Given the description of an element on the screen output the (x, y) to click on. 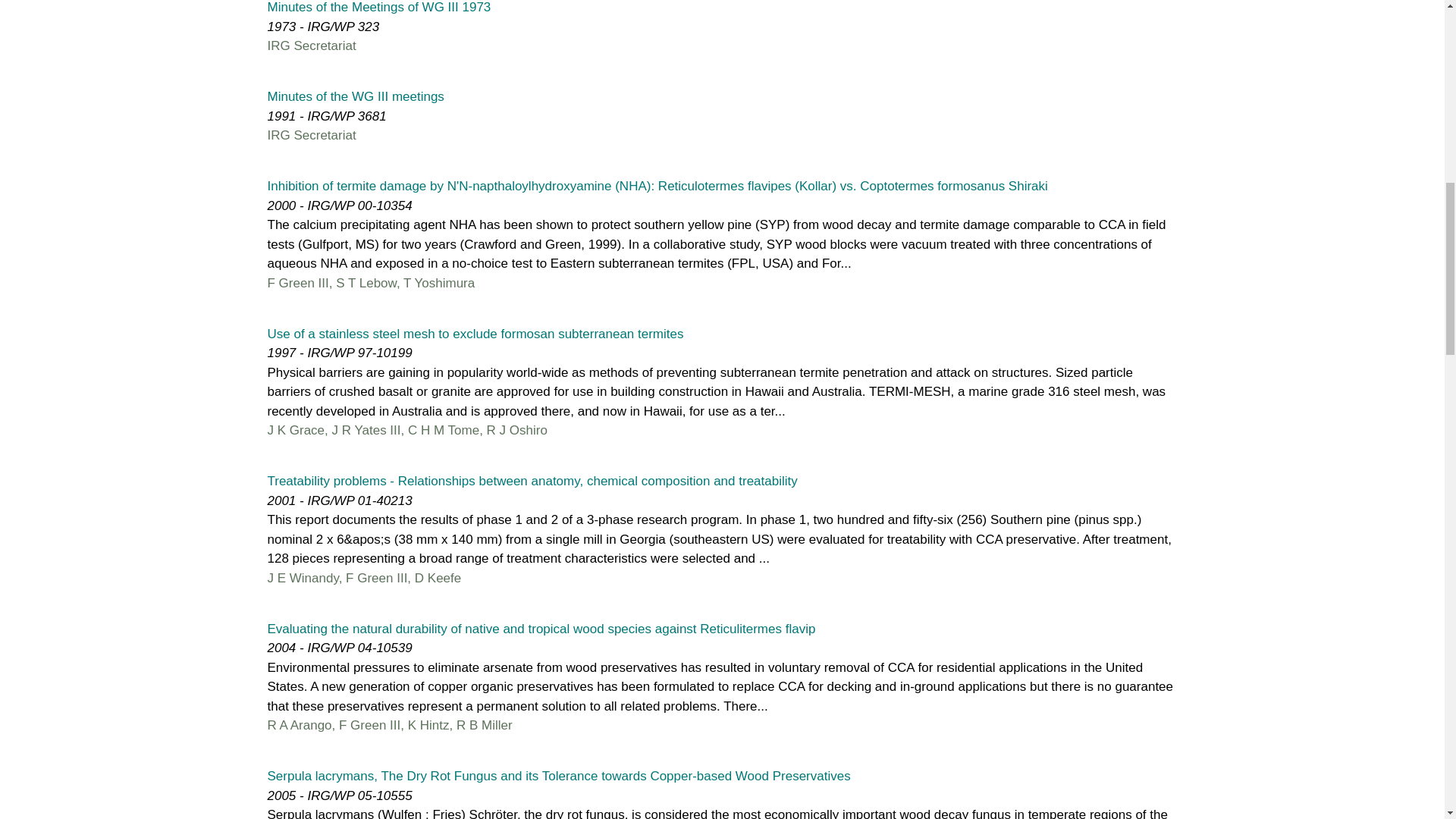
Click for more information about document. (474, 332)
Minutes of the WG III meetings (355, 96)
Click for more information about document. (355, 96)
Click for more information about document. (531, 481)
Click for more information about document. (540, 628)
Click for more information about document. (656, 186)
Minutes of the Meetings of WG III 1973 (378, 7)
Click for more information about document. (558, 775)
Click for more information about document. (378, 7)
